Given the description of an element on the screen output the (x, y) to click on. 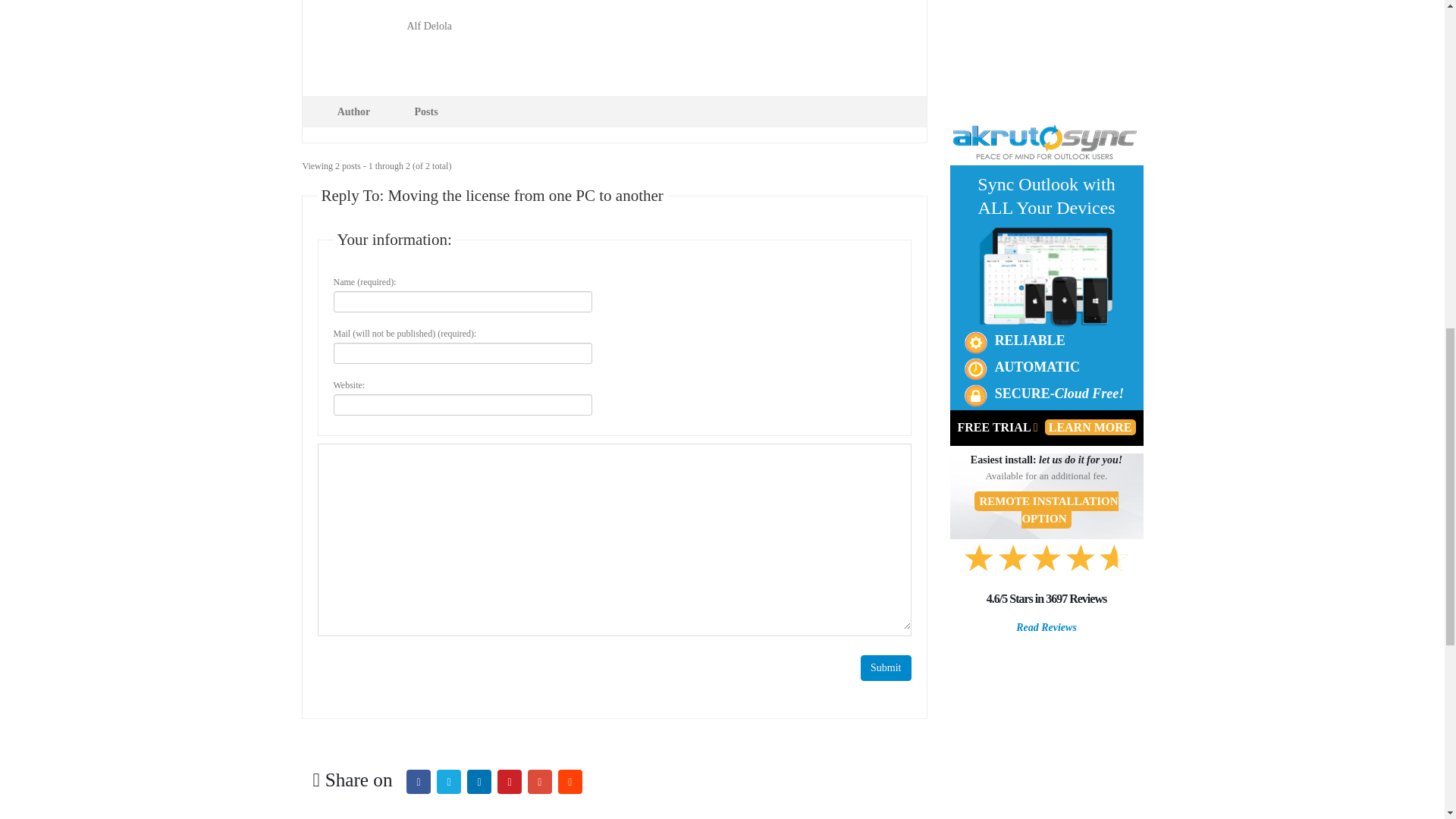
Email (539, 781)
LinkedIn (479, 781)
Facebook (418, 781)
Email (539, 781)
LinkedIn (479, 781)
Pinterest (509, 781)
Twitter (448, 781)
Reddit (569, 781)
Submit (885, 667)
Facebook (418, 781)
